Given the description of an element on the screen output the (x, y) to click on. 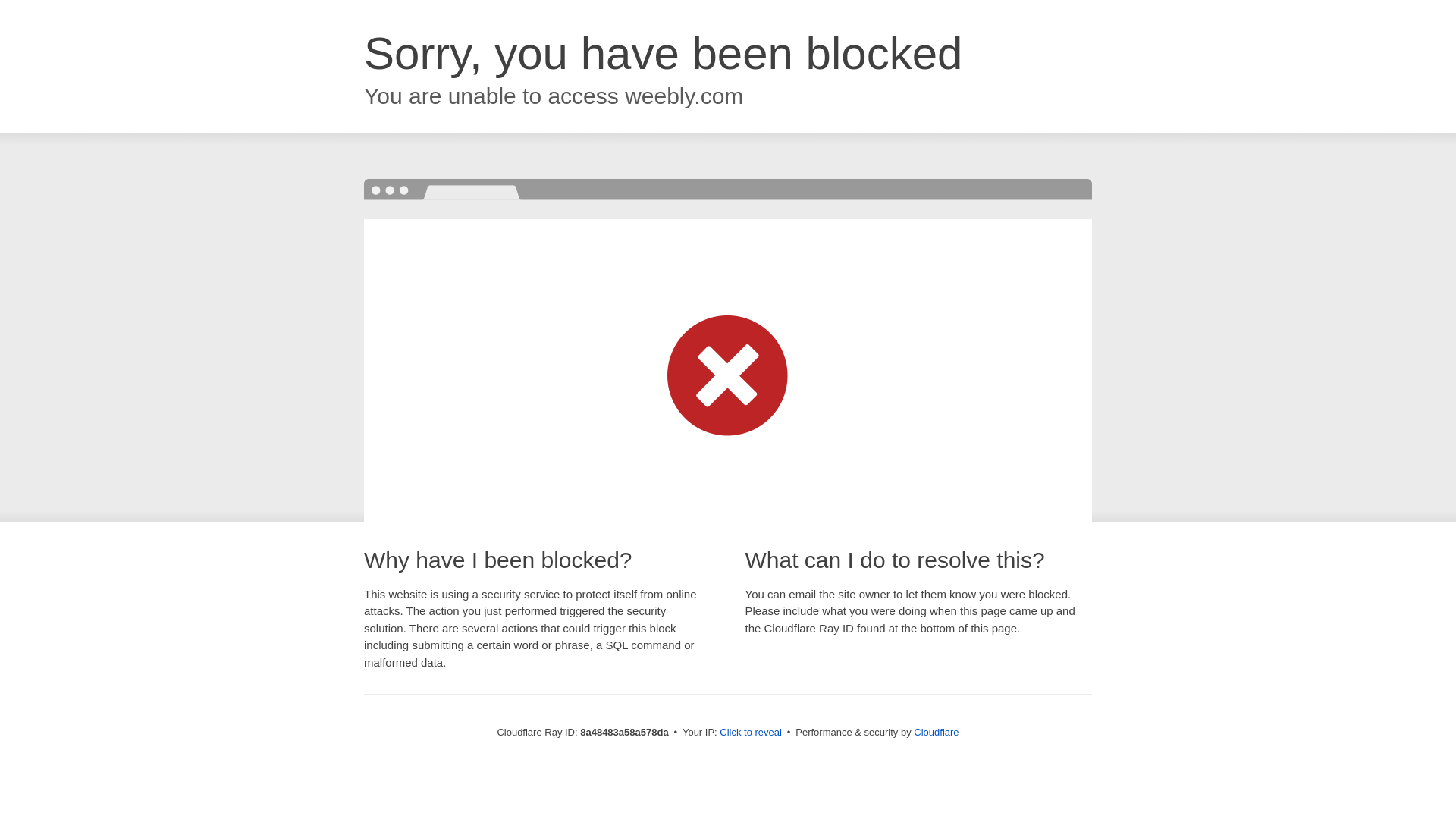
Click to reveal (750, 732)
Cloudflare (936, 731)
